Given the description of an element on the screen output the (x, y) to click on. 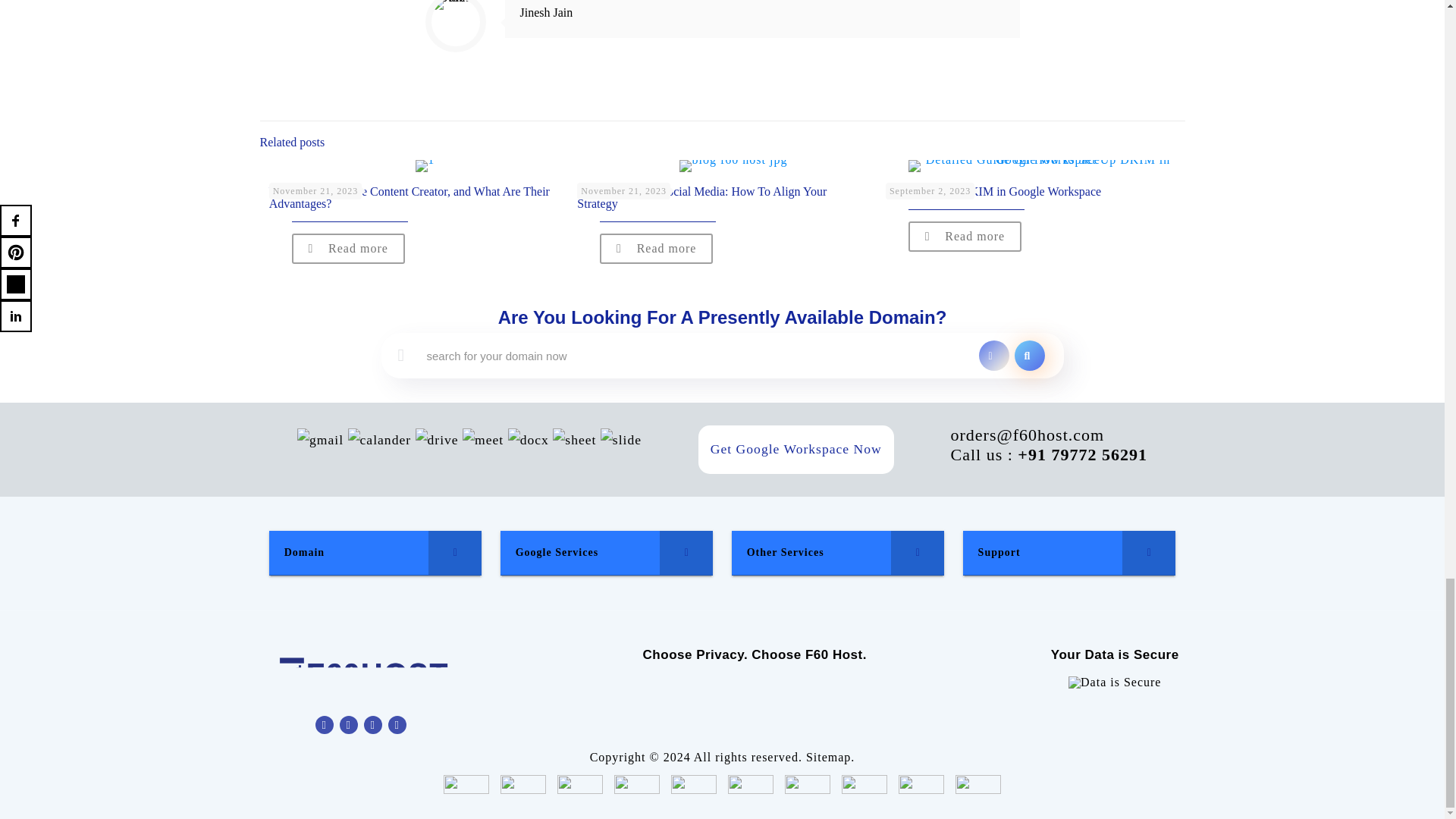
How to Set Up DKIM in Google Workspace 7 (1041, 165)
Organic vs. Paid Social Media: How To Align Your Strategy 5 (733, 165)
transfer (993, 355)
